Given the description of an element on the screen output the (x, y) to click on. 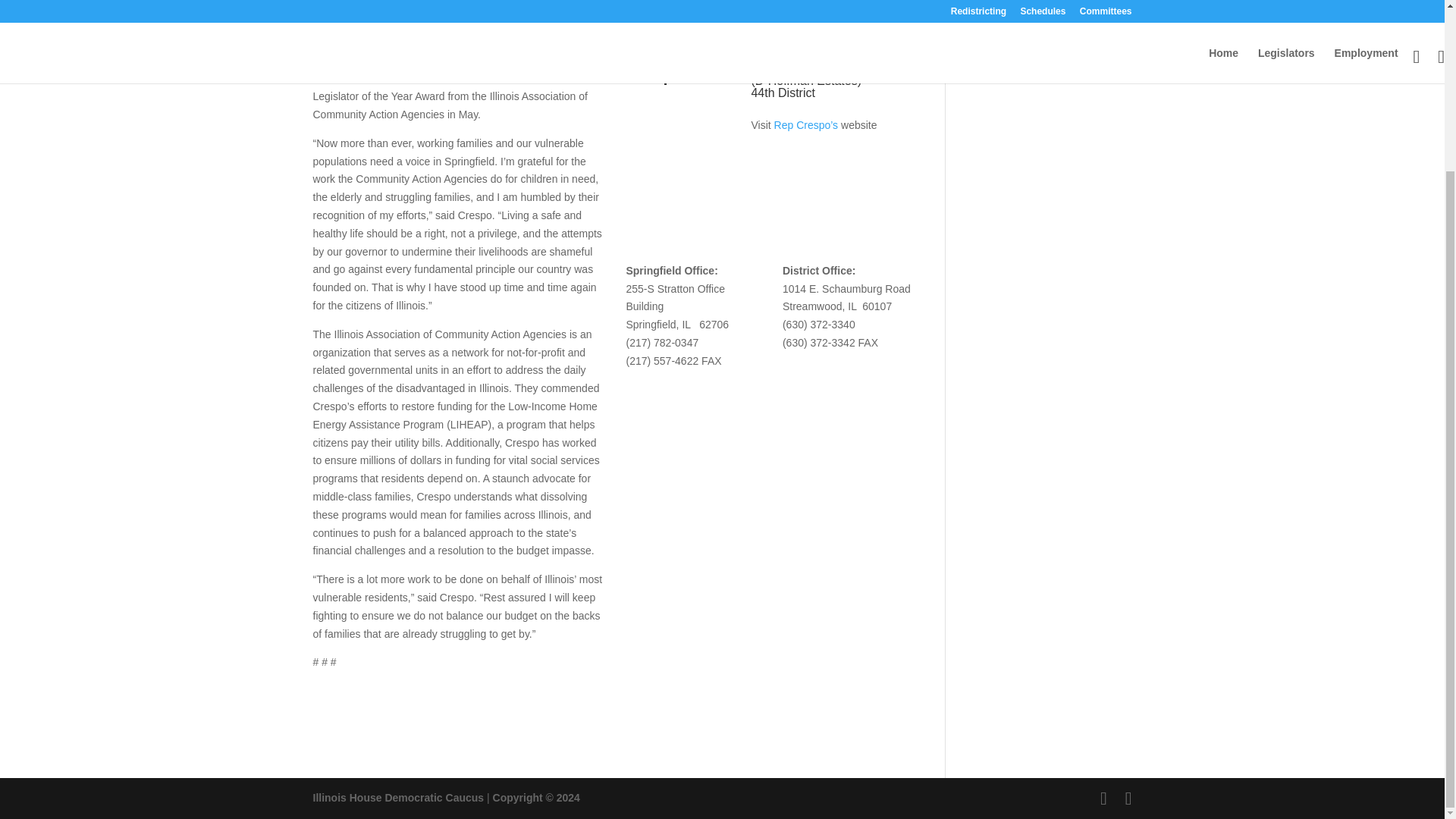
IL House Democrats (398, 797)
Follow on Facebook (762, 155)
Follow on Twitter (792, 155)
Illinois House Democratic Caucus (398, 797)
